Given the description of an element on the screen output the (x, y) to click on. 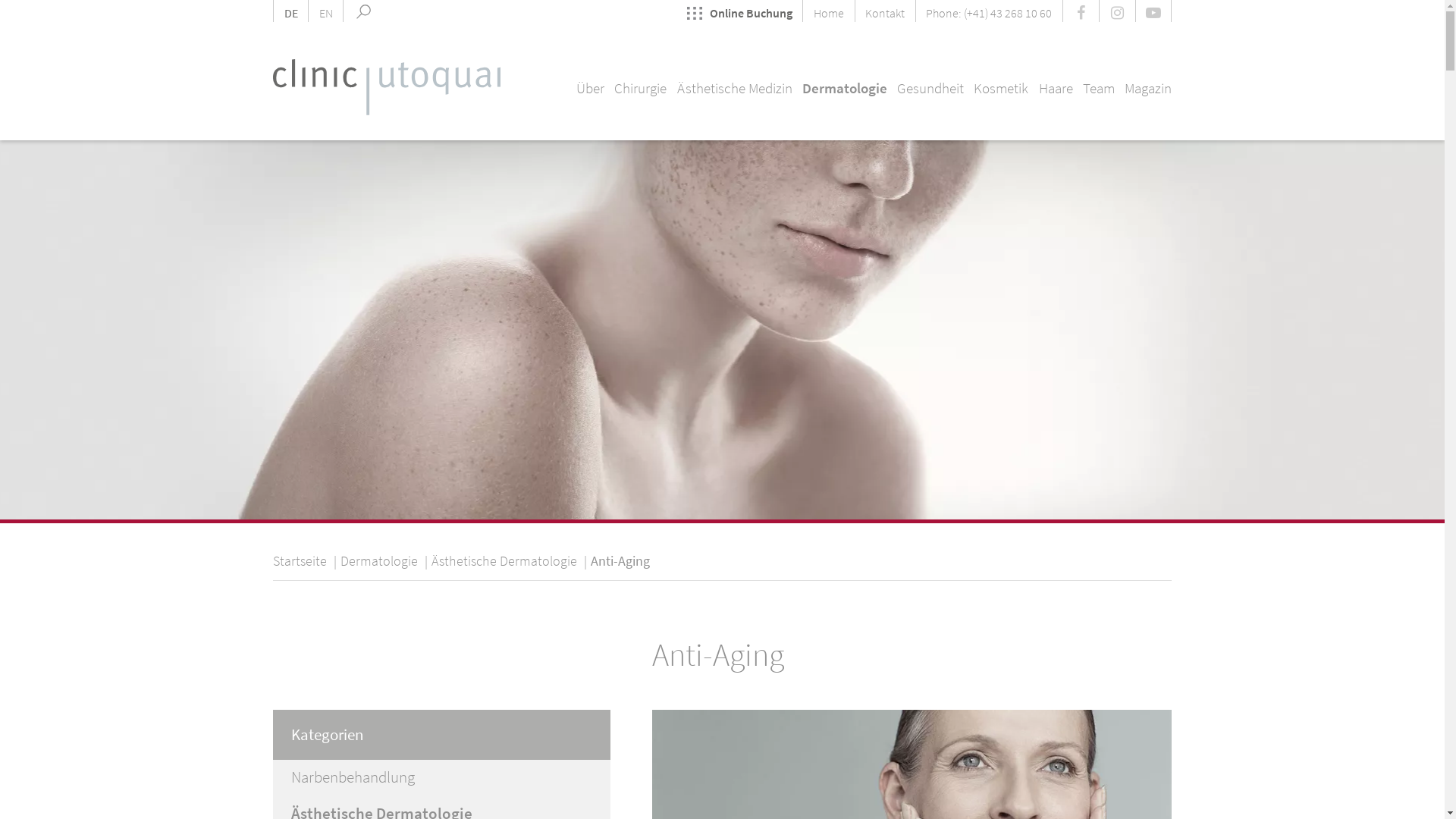
Narbenbehandlung Element type: text (441, 777)
Haare Element type: text (1055, 88)
Gesundheit Element type: text (930, 88)
Kontakt Element type: text (884, 10)
Folgen Sie uns auf Instagrama Element type: hover (1116, 10)
Dermatologie Element type: text (844, 88)
EN Element type: text (325, 10)
Kosmetik Element type: text (1000, 88)
Besuchen Sie uns auf Facebook Element type: hover (1080, 10)
Abonnieren Sie uns auf Youtube Element type: hover (1153, 10)
Team Element type: text (1098, 88)
Dermatologie Element type: text (378, 560)
Home Element type: text (828, 10)
Phone: (+41) 43 268 10 60 Element type: text (988, 10)
Online Buchung Element type: text (745, 10)
Chirurgie Element type: text (640, 88)
Magazin Element type: text (1147, 88)
Startseite Element type: text (299, 560)
DE Element type: text (290, 10)
